Given the description of an element on the screen output the (x, y) to click on. 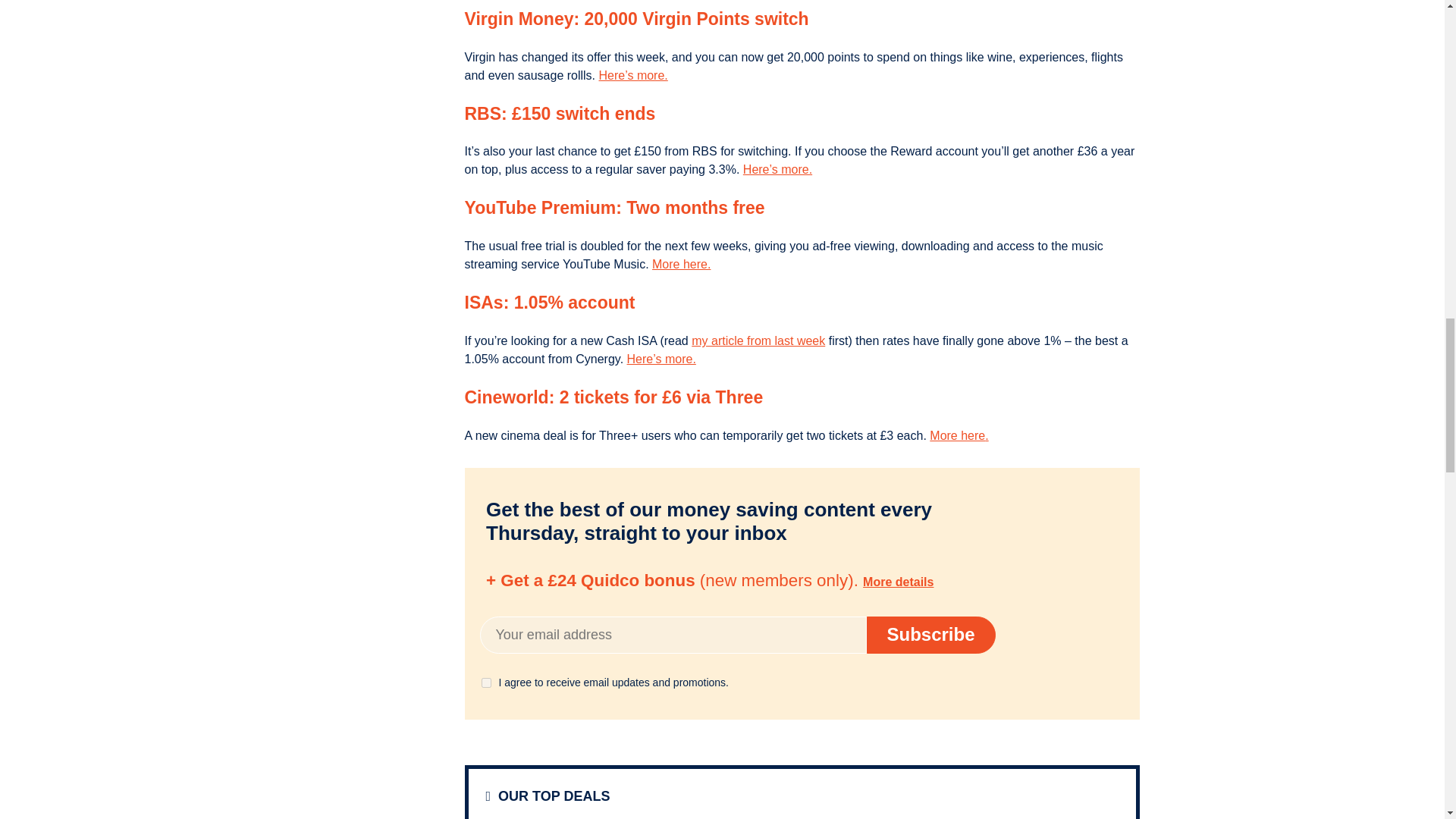
Subscribe (930, 634)
Y (485, 682)
desktop-email-image (998, 578)
